Given the description of an element on the screen output the (x, y) to click on. 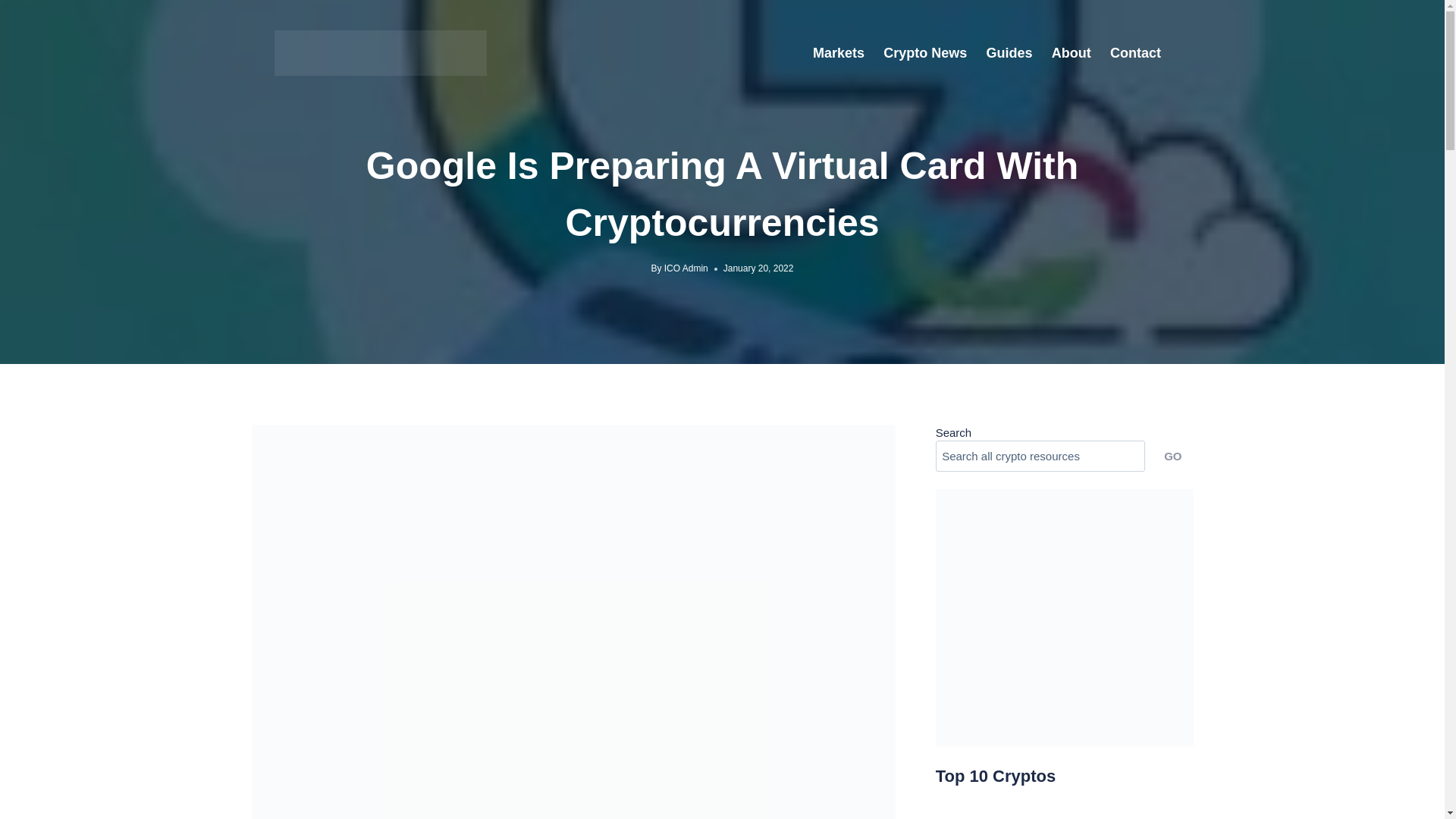
Guides (1009, 52)
Contact (1135, 52)
GO (1172, 455)
Markets (838, 52)
Crypto News (925, 52)
ICO Admin (685, 267)
About (1071, 52)
